Given the description of an element on the screen output the (x, y) to click on. 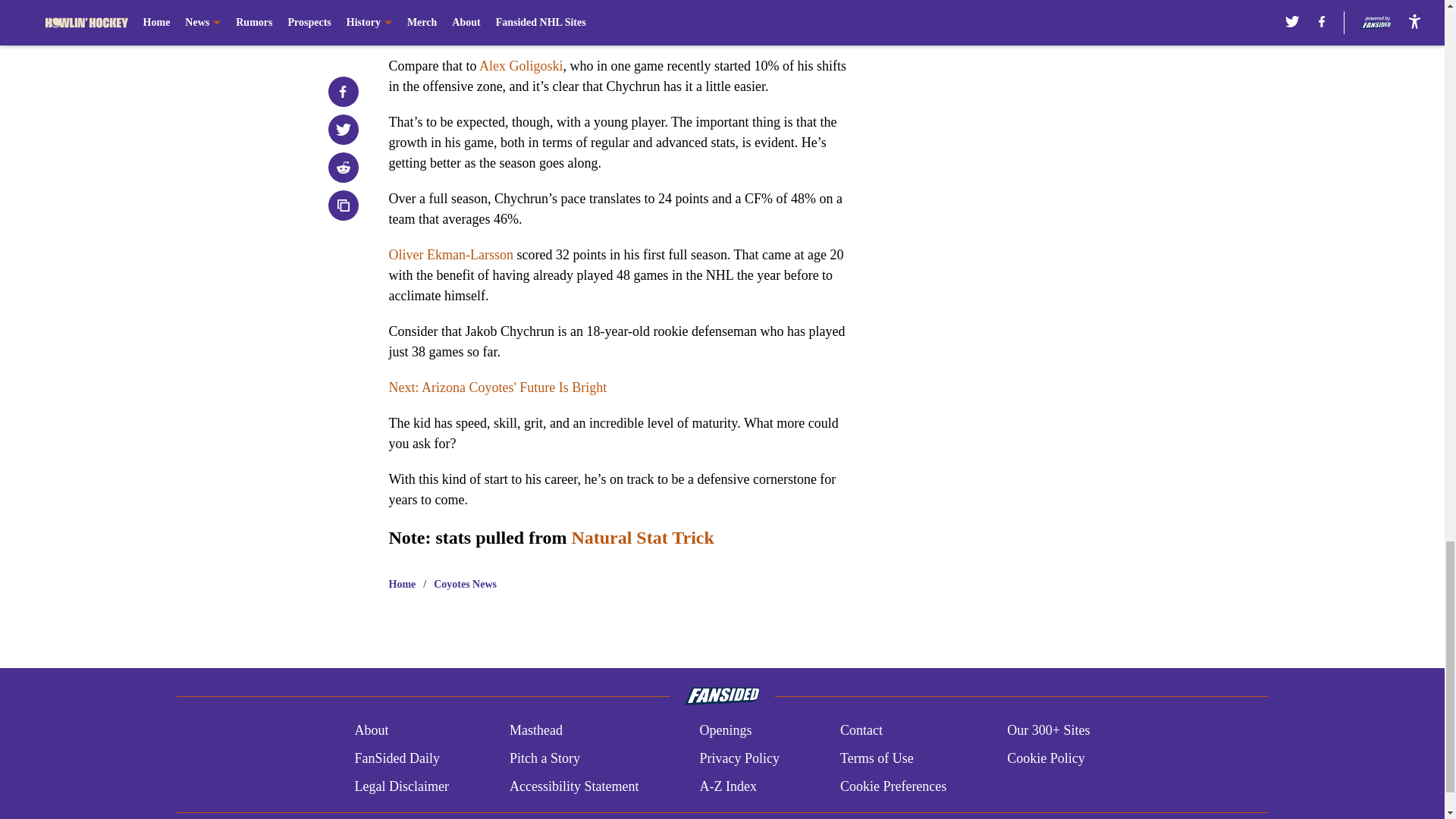
Alex Goligoski (521, 65)
Contact (861, 730)
Next: Arizona Coyotes' Future Is Bright (497, 387)
Natural Stat Trick (641, 537)
Masthead (535, 730)
Coyotes News (464, 584)
Home (401, 584)
About (370, 730)
Openings (724, 730)
Oliver Ekman-Larsson (450, 254)
